Given the description of an element on the screen output the (x, y) to click on. 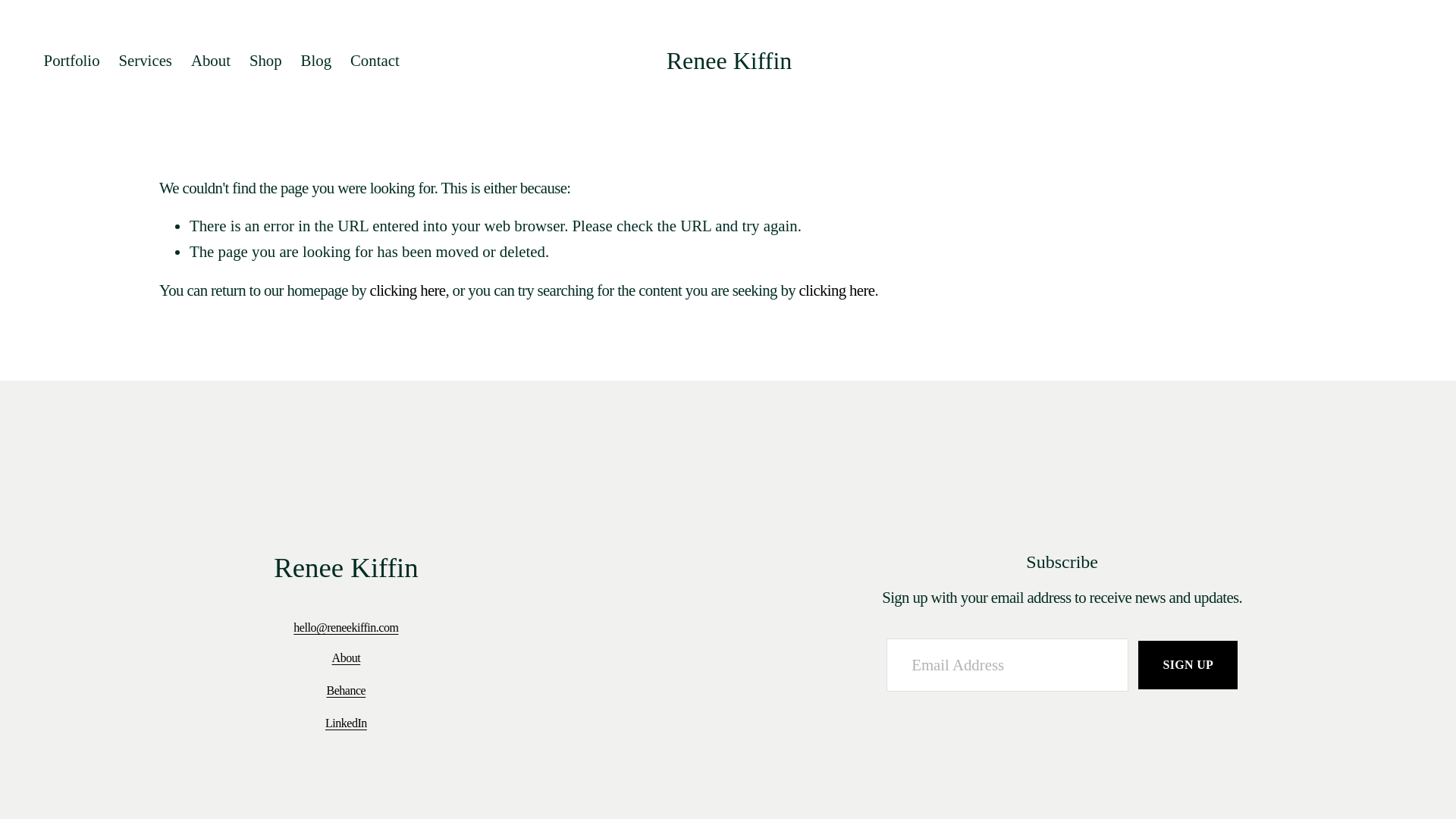
Contact (374, 59)
Shop (265, 59)
clicking here (837, 289)
clicking here (407, 289)
Portfolio (71, 59)
About (210, 59)
Services (144, 59)
Blog (316, 59)
Renee Kiffin (729, 60)
